Given the description of an element on the screen output the (x, y) to click on. 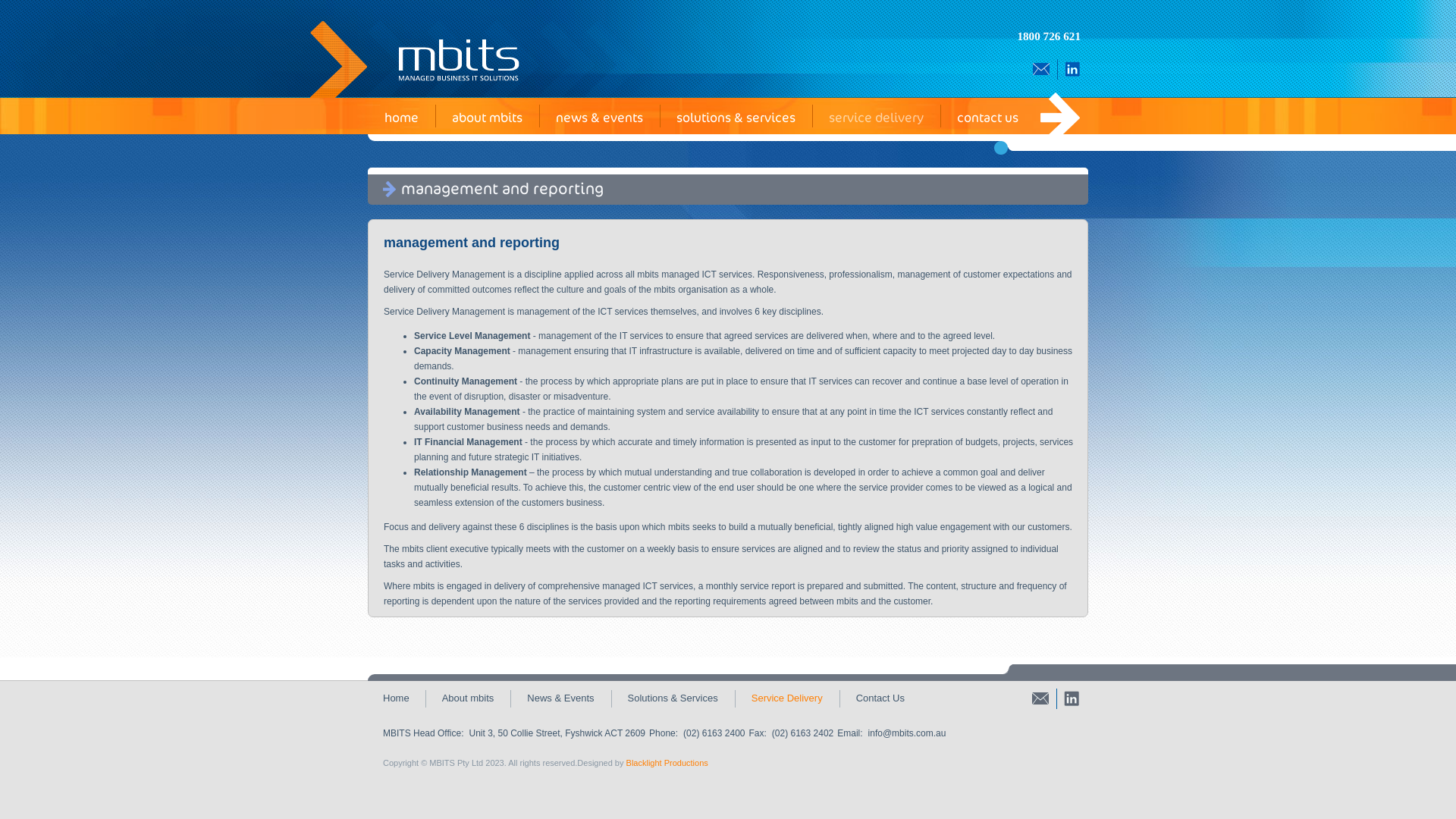
Contact Us Element type: text (880, 697)
management and reporting Element type: text (471, 242)
info@mbits.com.au Element type: text (907, 733)
Solutions & Services Element type: text (672, 697)
1800 726 621 Element type: text (1048, 35)
Linked In Element type: text (1071, 67)
Email Element type: text (1040, 68)
home Element type: text (401, 117)
Home Element type: text (395, 697)
service delivery Element type: text (875, 117)
Service Delivery Element type: text (786, 697)
News & Events Element type: text (560, 697)
solutions & services Element type: text (735, 117)
news & events Element type: text (599, 117)
About mbits Element type: text (468, 697)
Linked In Element type: text (1071, 698)
about mbits Element type: text (486, 117)
contact us Element type: text (987, 117)
Email Element type: text (1040, 698)
Blacklight Productions Element type: text (667, 762)
